Given the description of an element on the screen output the (x, y) to click on. 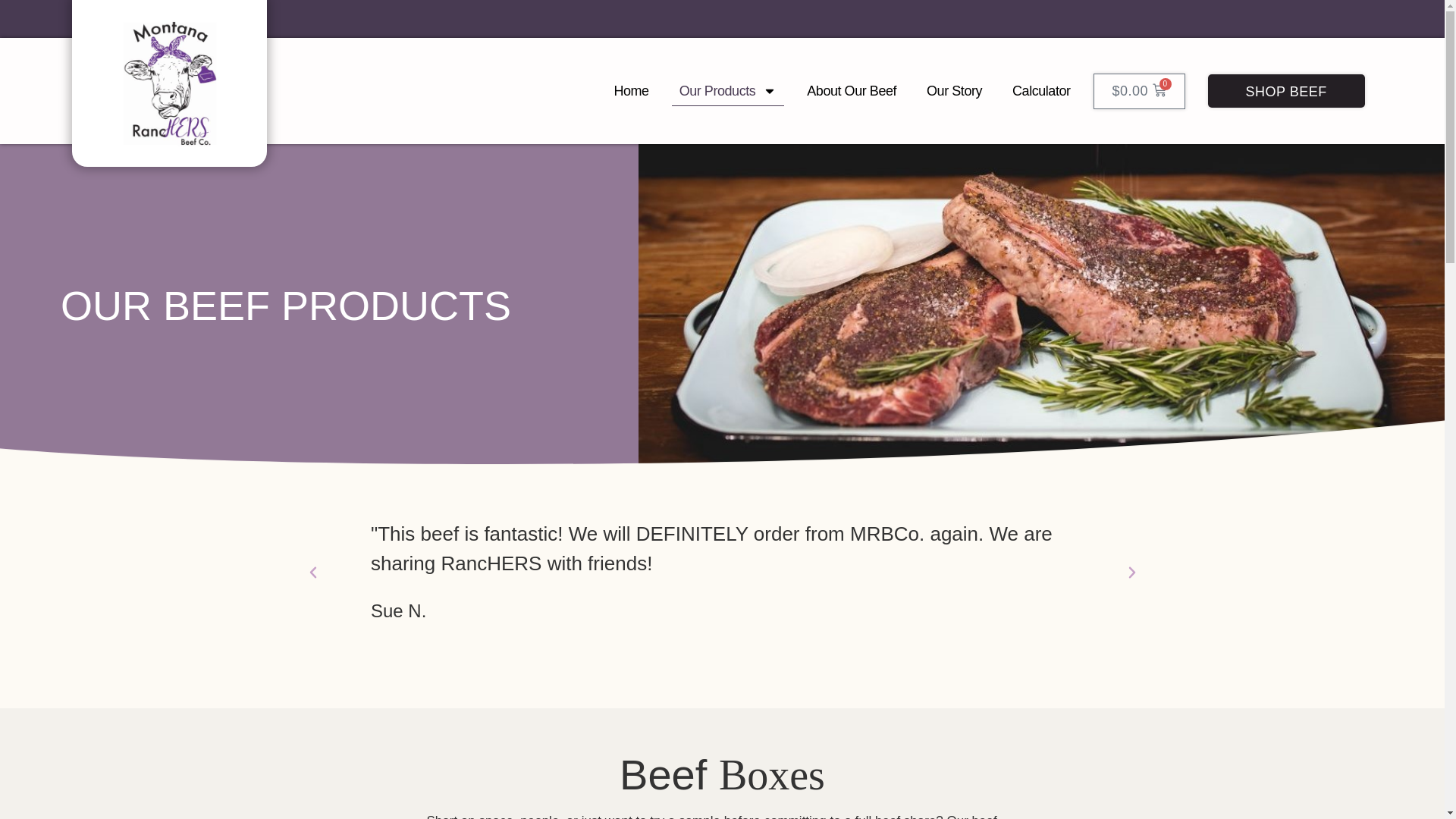
Calculator (1041, 91)
SHOP BEEF (1286, 90)
About Our Beef (851, 91)
Home (630, 91)
Our Story (954, 91)
Our Products (727, 91)
